Given the description of an element on the screen output the (x, y) to click on. 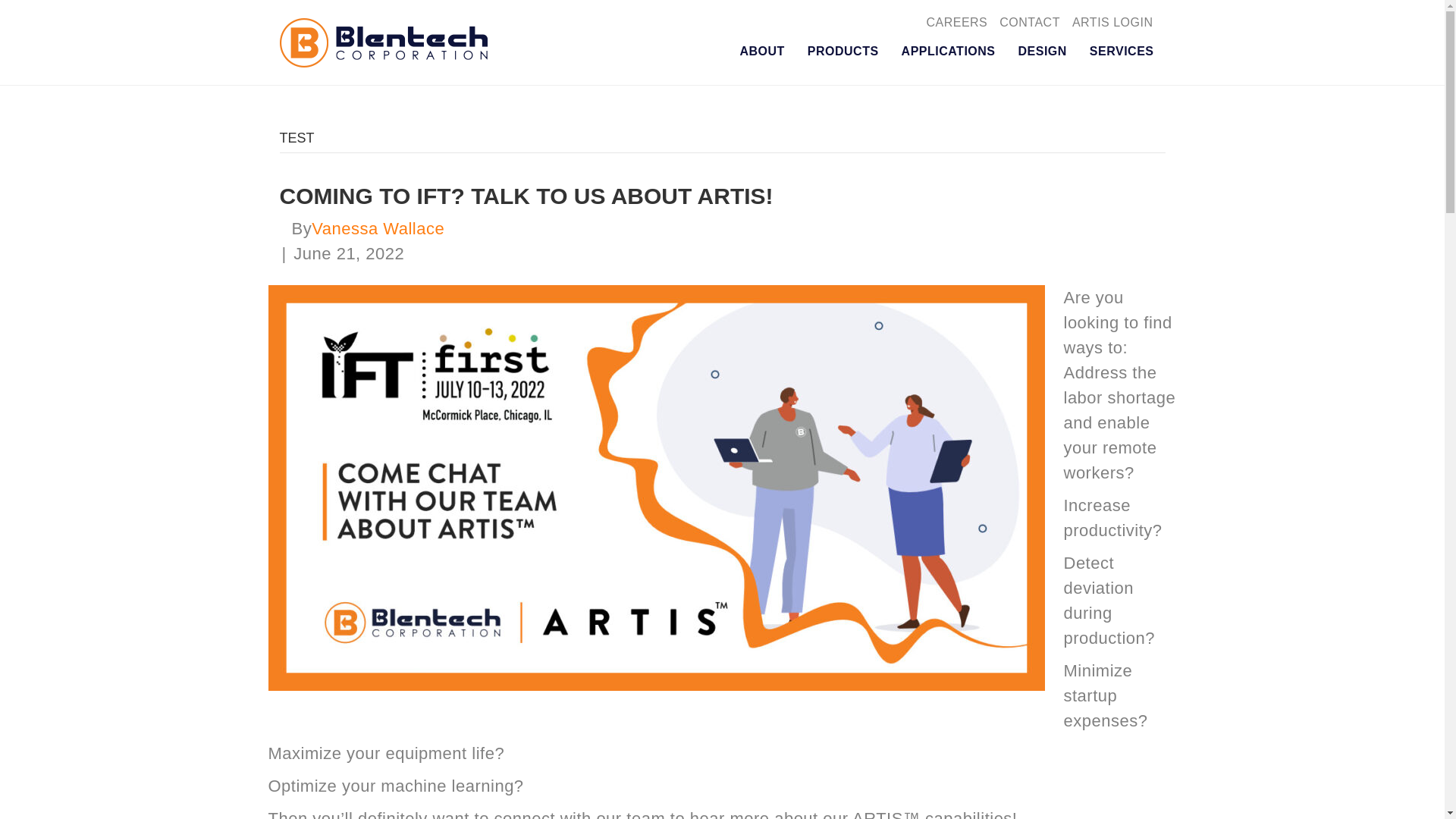
Coming to IFT?  Talk to us about ARTIS! (656, 486)
Coming to IFT?  Talk to us about ARTIS! (526, 195)
